Given the description of an element on the screen output the (x, y) to click on. 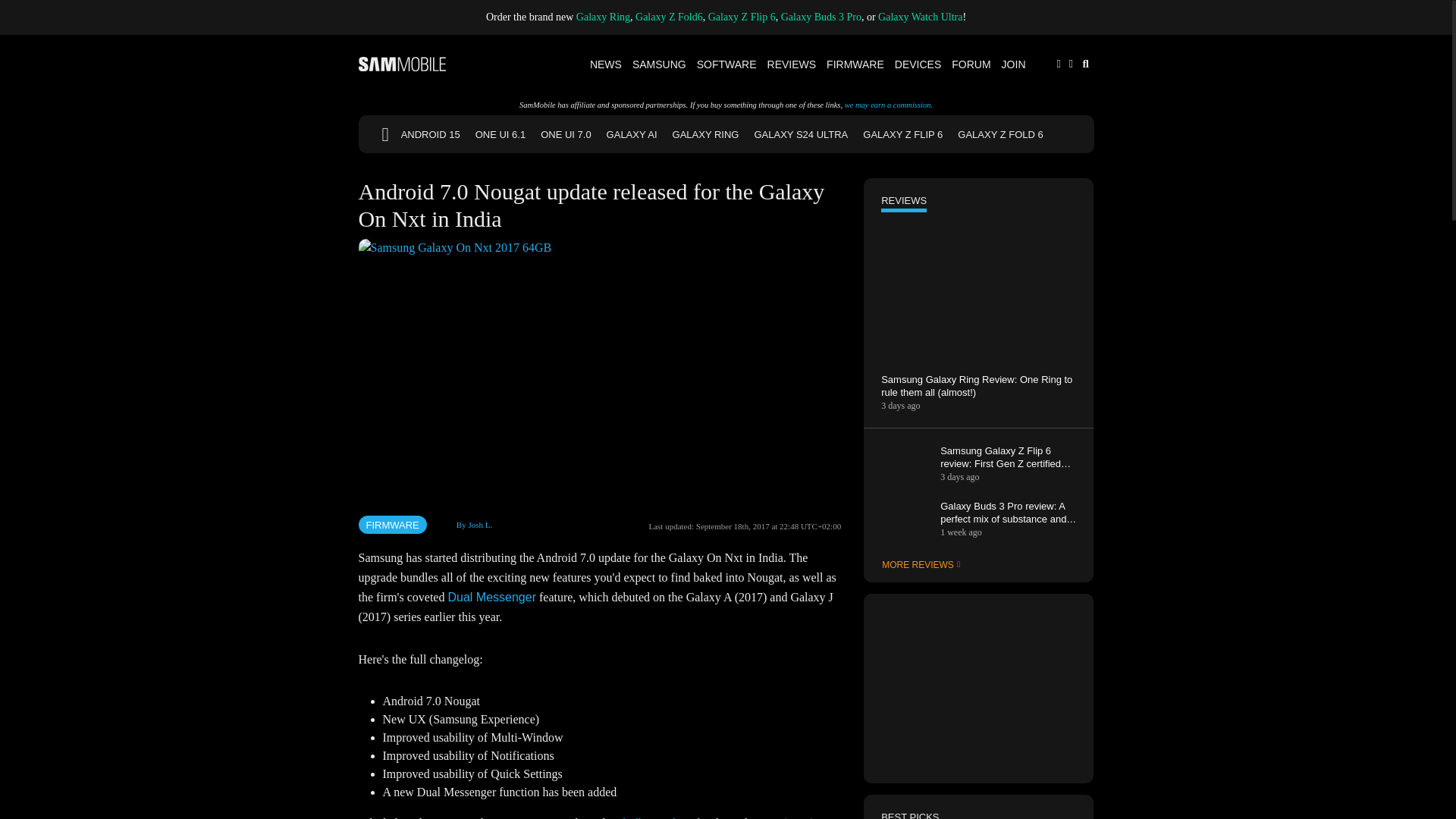
SamMobile logo (401, 63)
Galaxy Z Fold6 (668, 16)
Galaxy Ring (603, 16)
Galaxy Buds 3 Pro (820, 16)
SAMSUNG (659, 64)
Galaxy Watch Ultra (919, 16)
Samsung (659, 64)
Galaxy Z Flip 6 (741, 16)
